Given the description of an element on the screen output the (x, y) to click on. 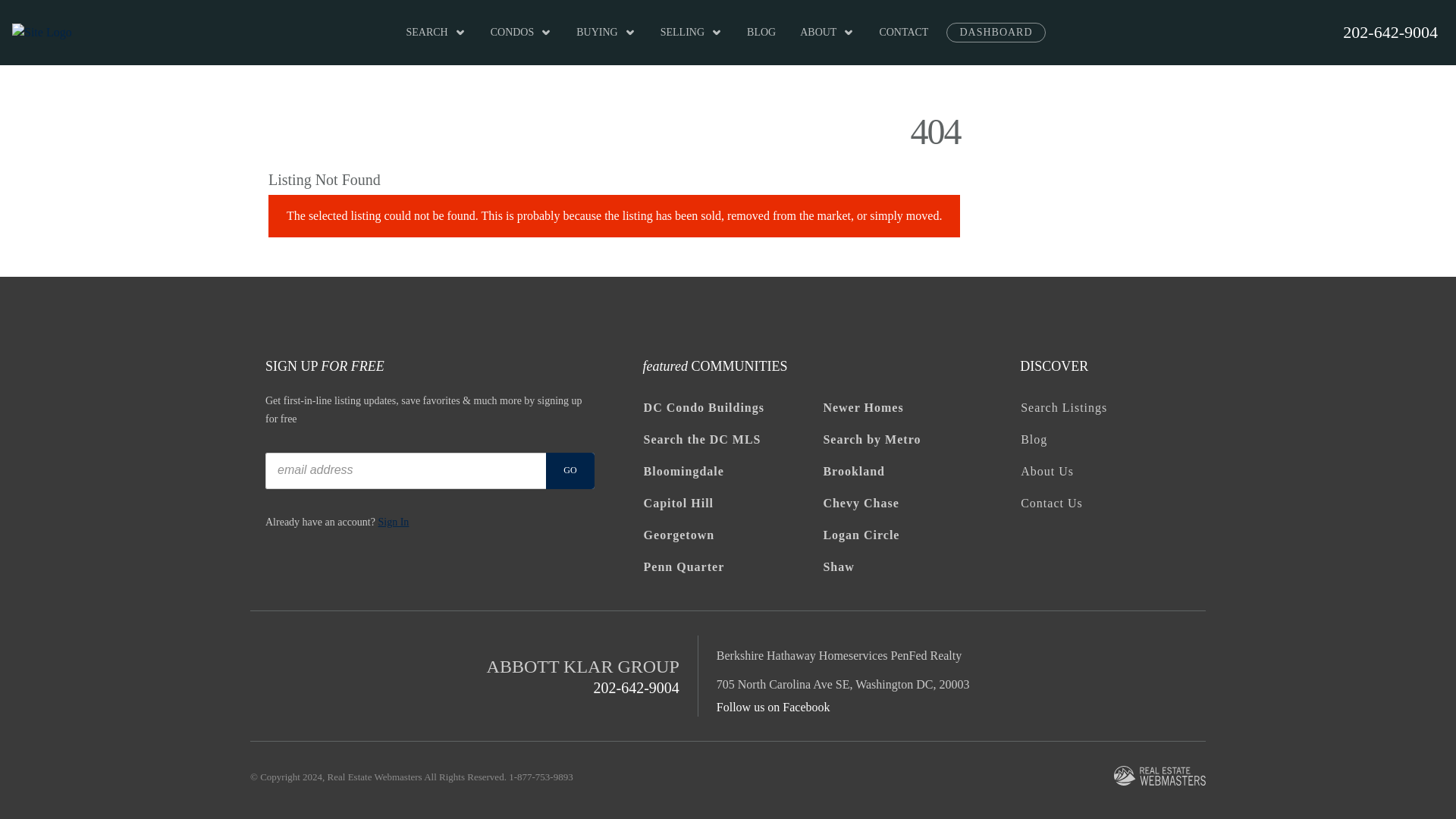
Capitol Hill (732, 503)
Chevy Chase (911, 503)
DASHBOARD (995, 32)
Georgetown (732, 535)
Washington DC MLS (732, 439)
Site Logo (41, 32)
BUYING (605, 32)
Search by Metro Station (911, 439)
Facebook Icon (1026, 547)
CONDOS (521, 32)
